Given the description of an element on the screen output the (x, y) to click on. 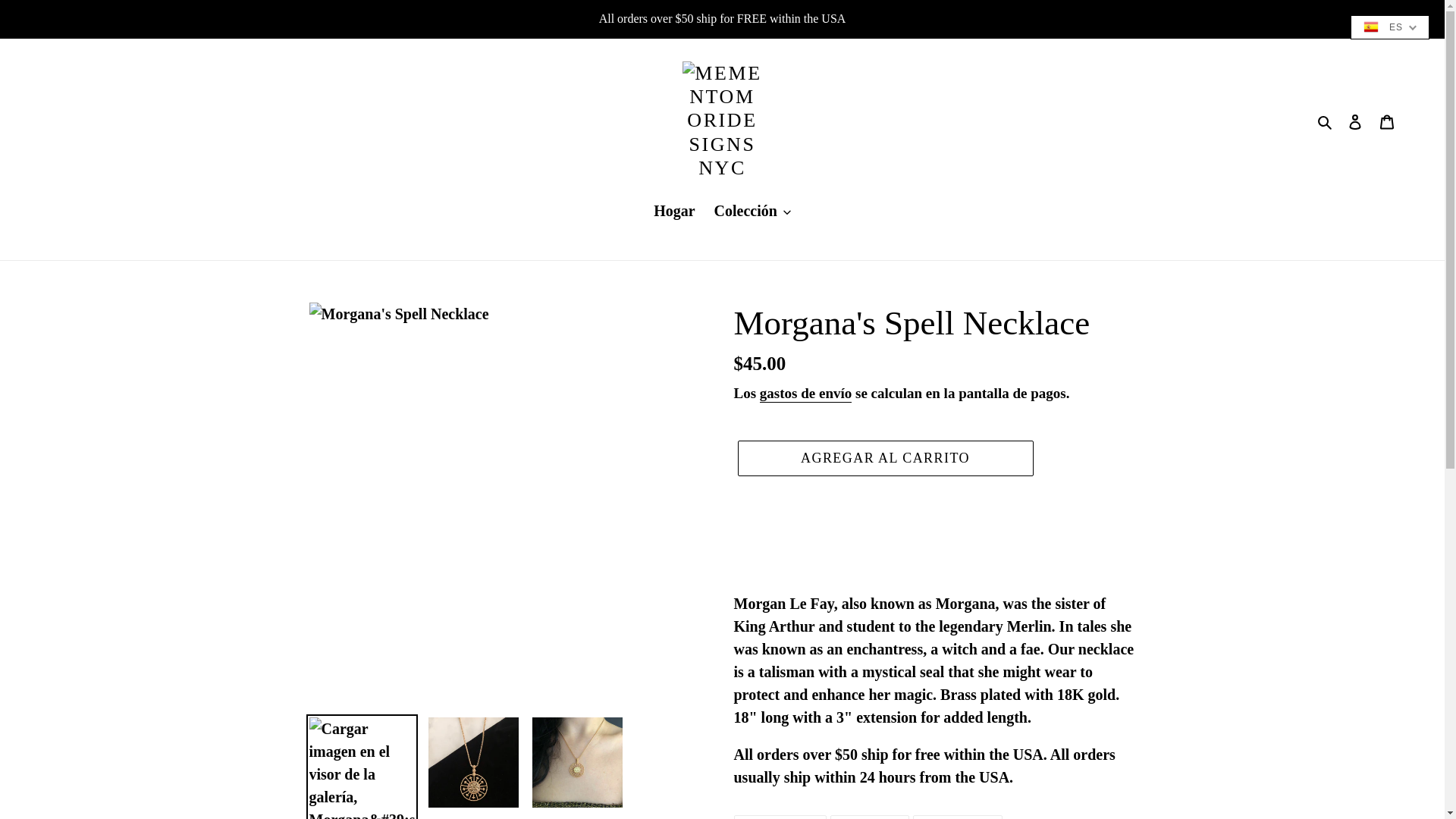
Ingresar (1355, 120)
Buscar (1326, 120)
Hogar (673, 211)
Carrito (1387, 120)
